Given the description of an element on the screen output the (x, y) to click on. 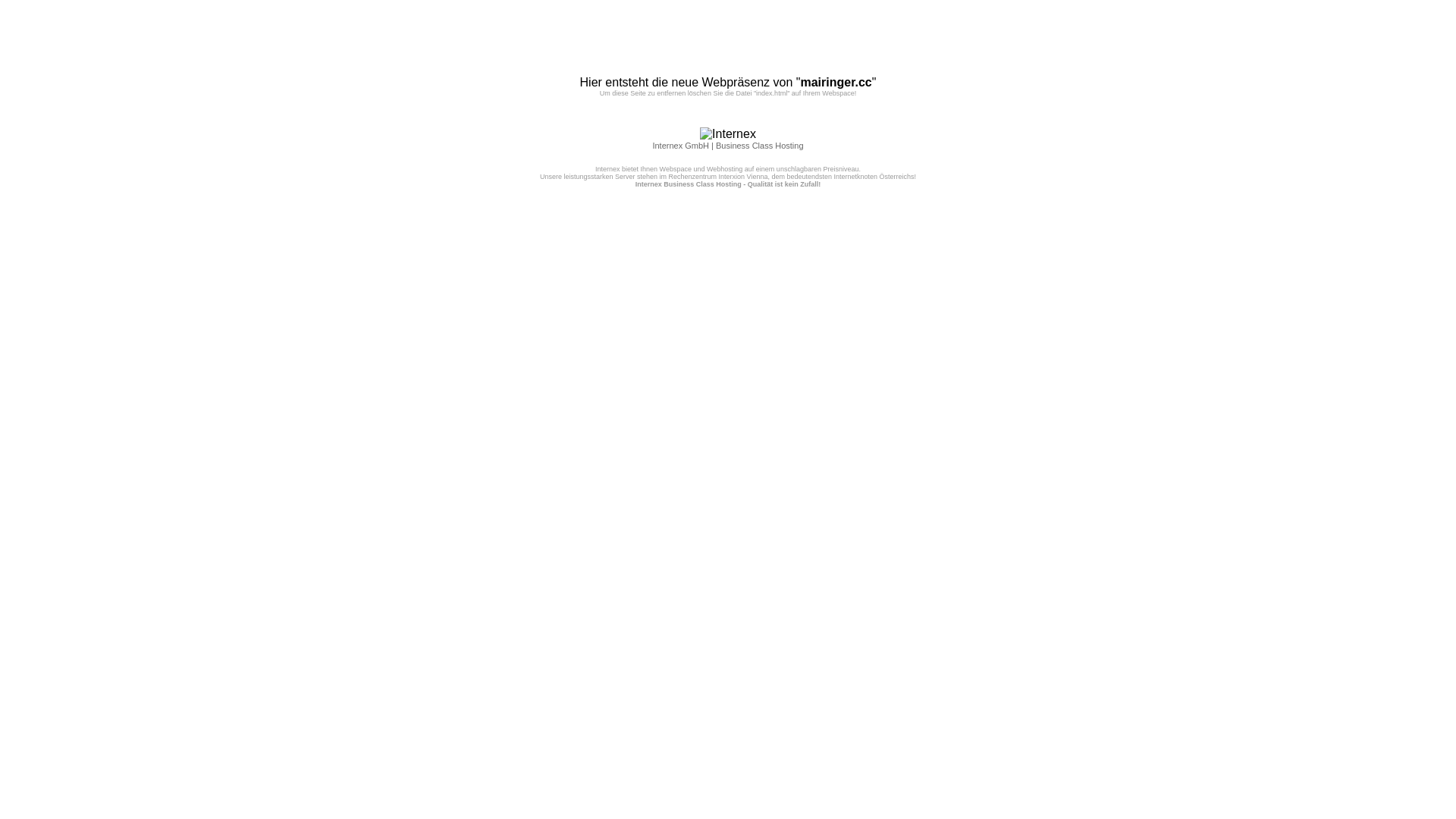
Internex Element type: hover (727, 134)
